Given the description of an element on the screen output the (x, y) to click on. 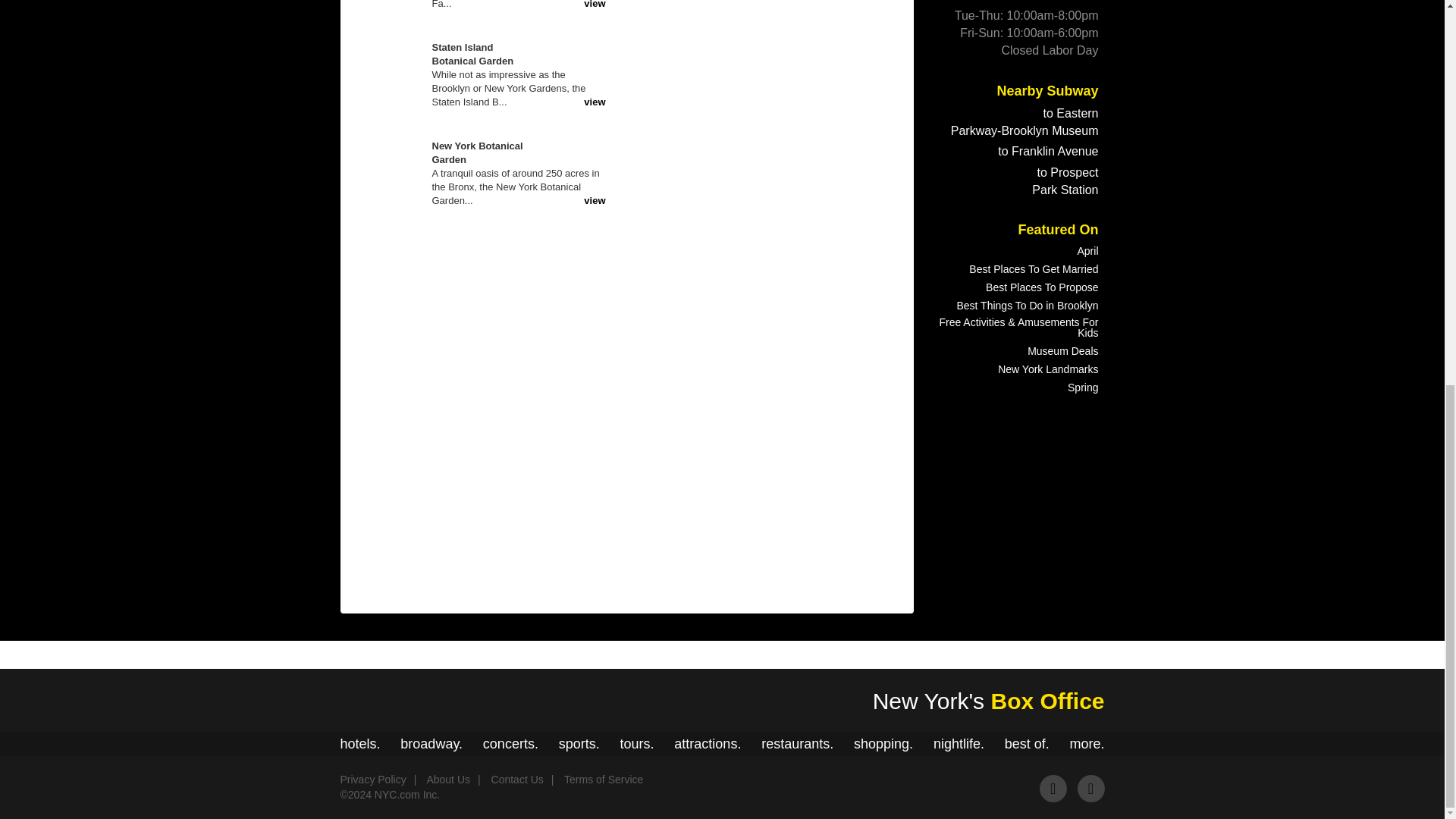
fourline (962, 151)
twoline (1007, 113)
qline (1001, 172)
bline (981, 172)
sline (1021, 172)
threelin (1027, 113)
fiveline (982, 151)
